Given the description of an element on the screen output the (x, y) to click on. 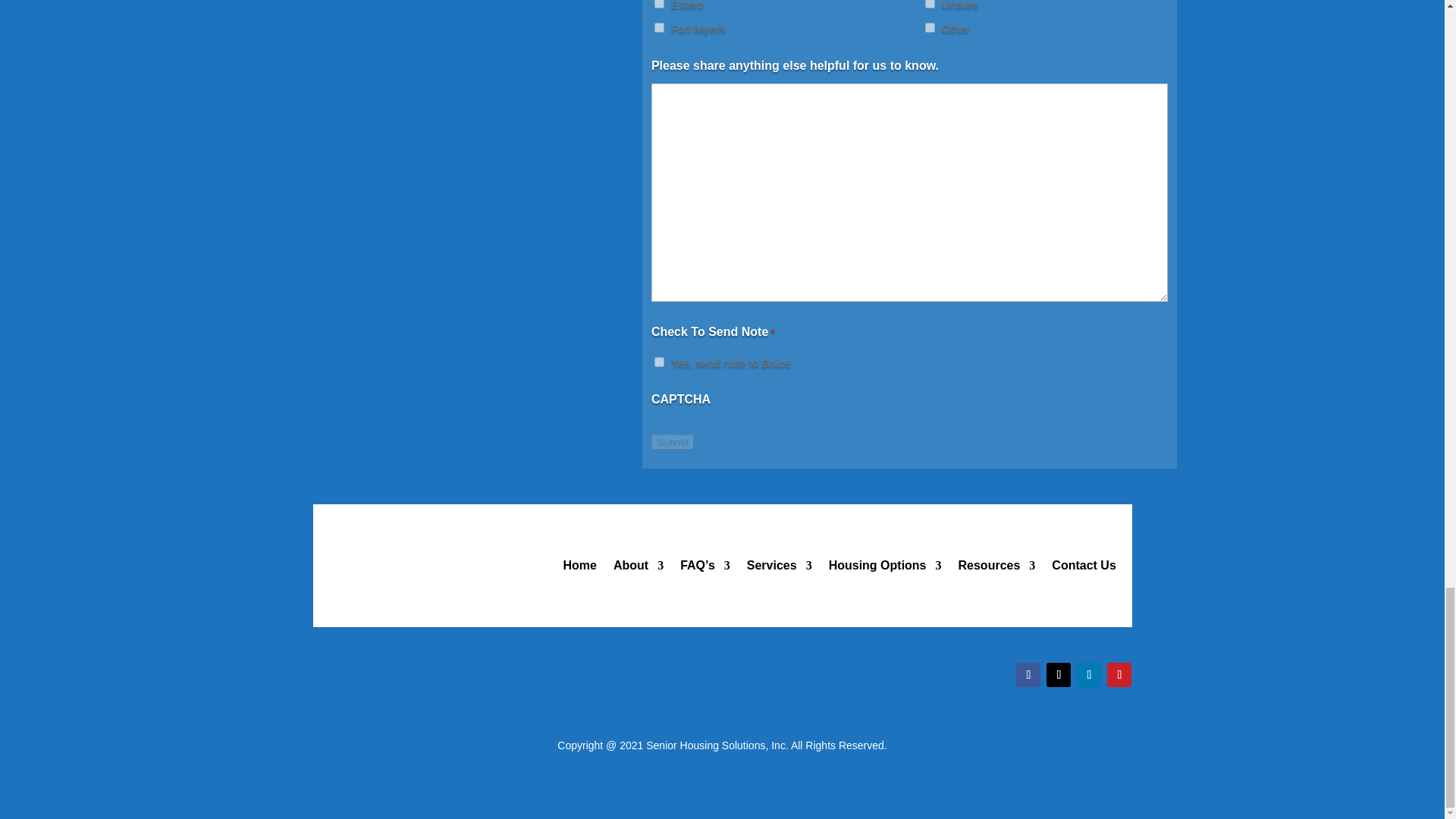
Follow on LinkedIn (1088, 674)
Follow on Facebook (1028, 674)
Follow on Pinterest (1118, 674)
Follow on X (1058, 674)
